Given the description of an element on the screen output the (x, y) to click on. 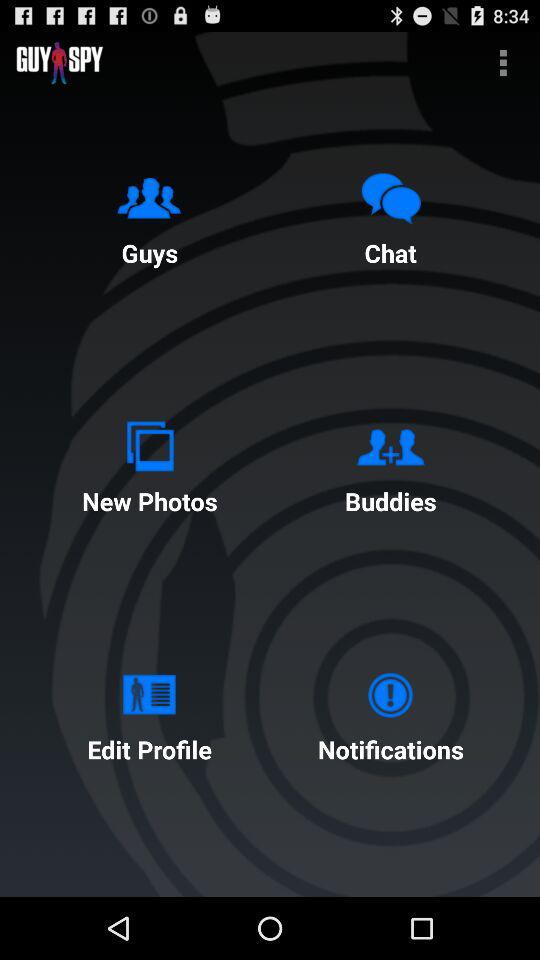
tap the guys icon (149, 215)
